Given the description of an element on the screen output the (x, y) to click on. 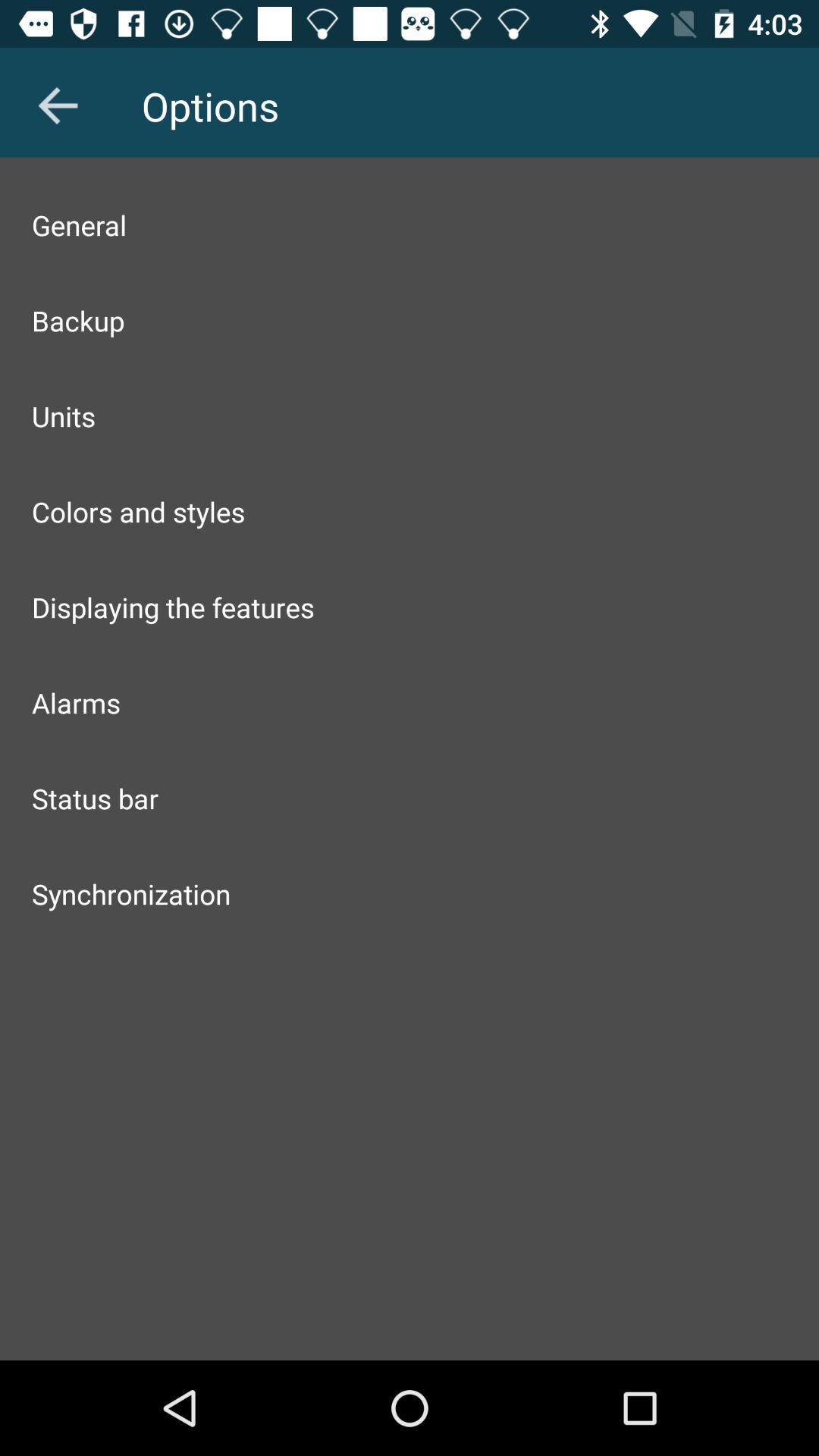
tap icon to the left of options icon (57, 105)
